Given the description of an element on the screen output the (x, y) to click on. 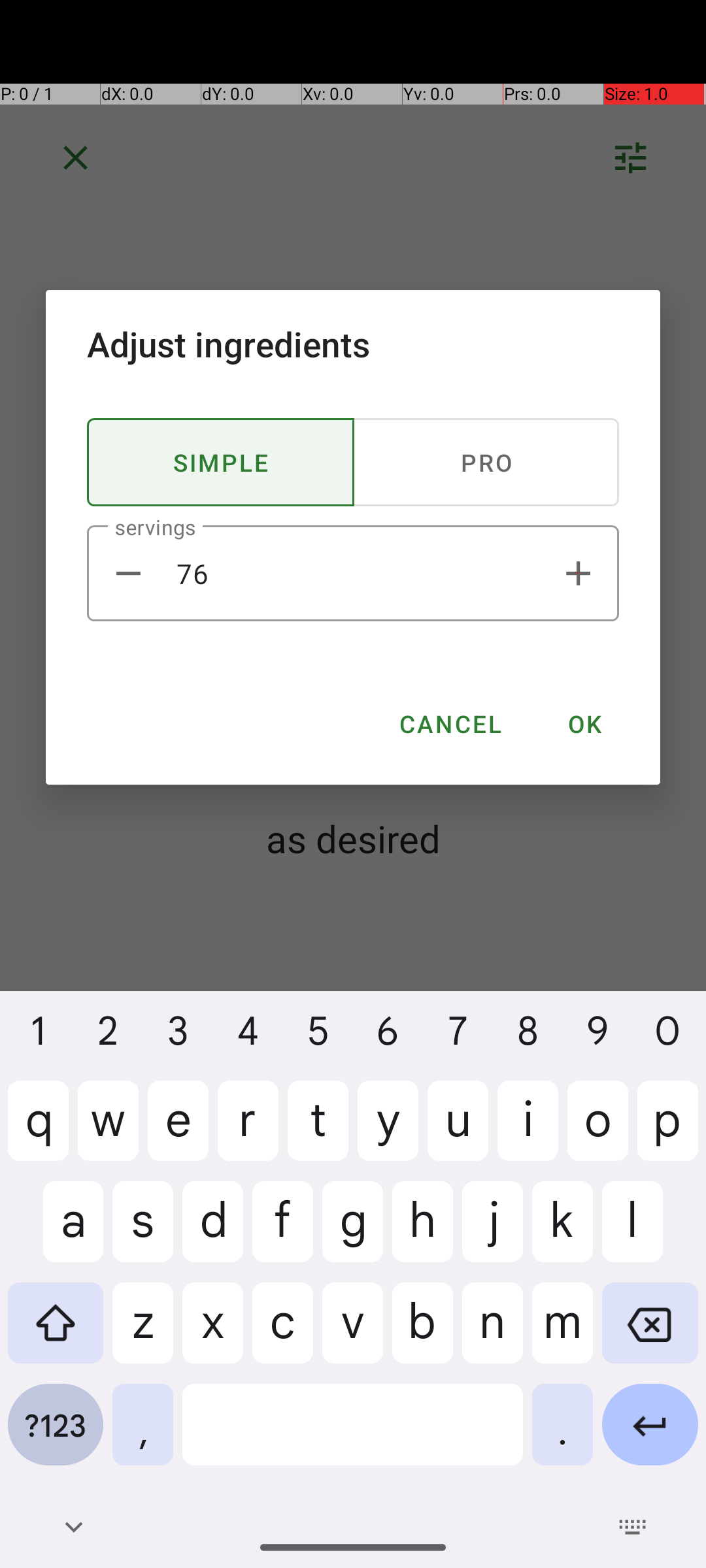
76 Element type: android.widget.EditText (352, 573)
